Given the description of an element on the screen output the (x, y) to click on. 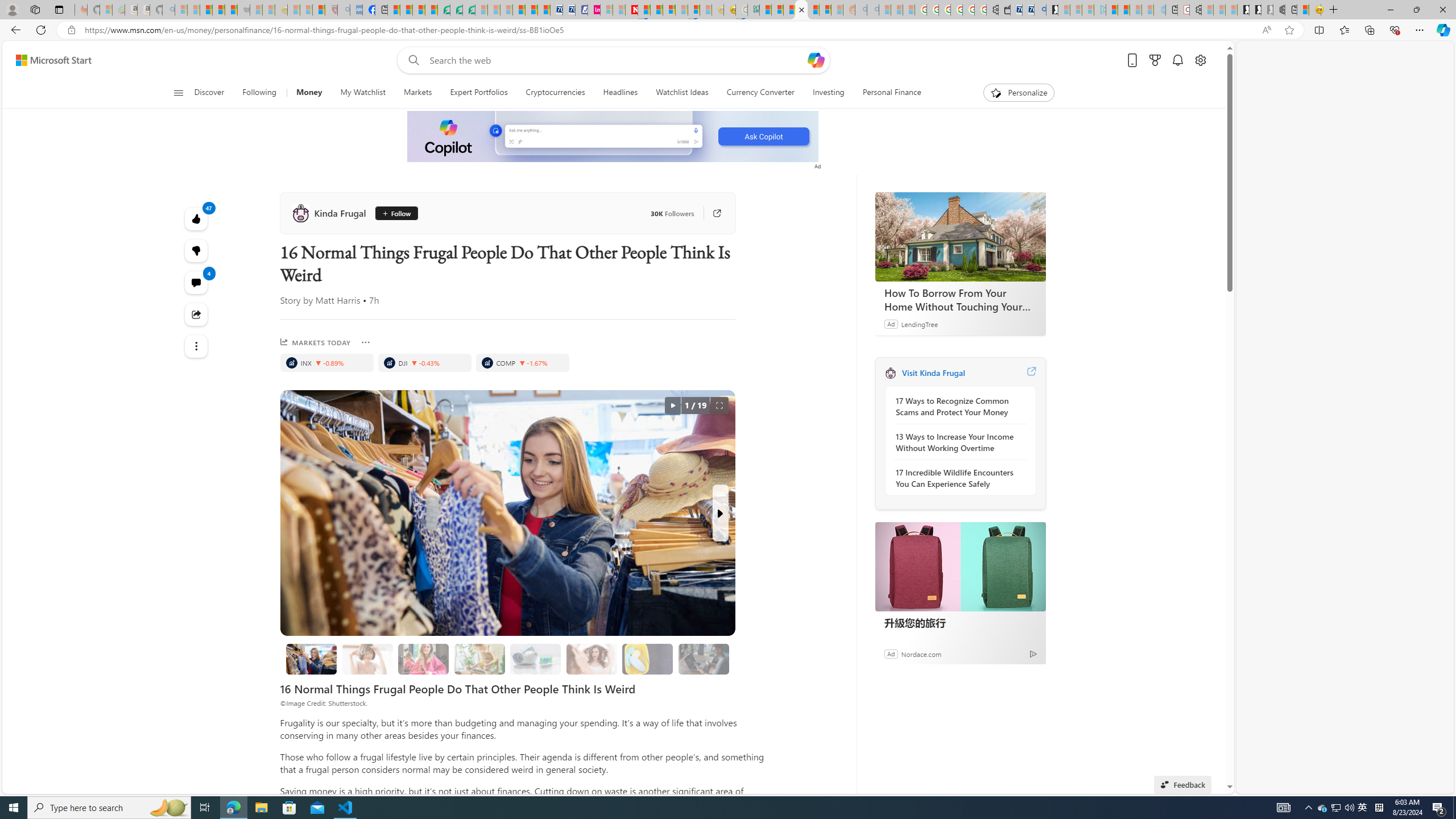
2. Donating Hair (423, 659)
Kinda Frugal - MSN (813, 9)
5. Not Washing Hair (591, 659)
Follow (396, 213)
47 (196, 250)
1. Cutting Hair (367, 659)
Personal Finance (887, 92)
Currency Converter (760, 92)
